Given the description of an element on the screen output the (x, y) to click on. 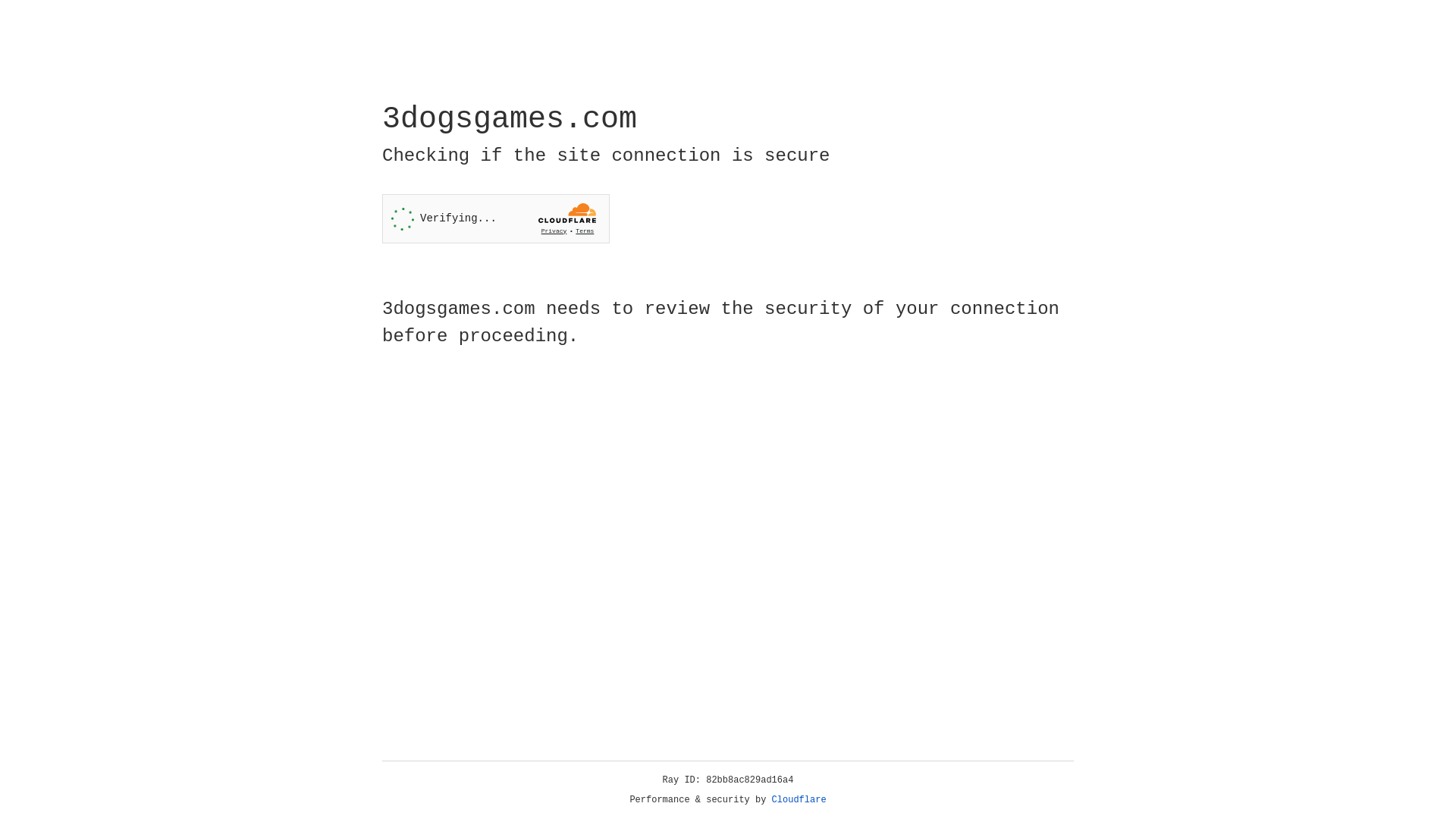
Cloudflare Element type: text (798, 799)
Widget containing a Cloudflare security challenge Element type: hover (495, 218)
